Given the description of an element on the screen output the (x, y) to click on. 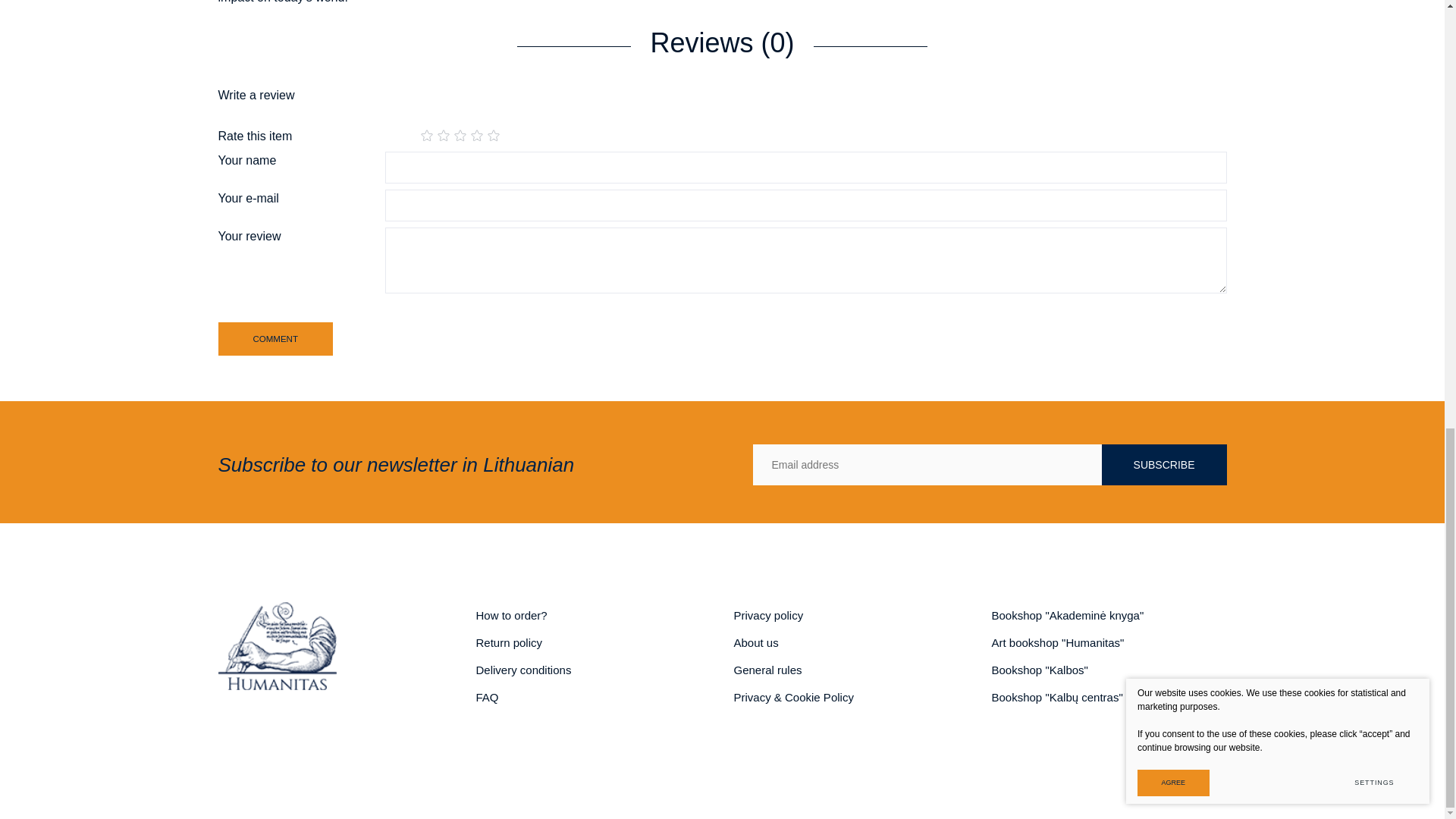
Email address (926, 464)
